Given the description of an element on the screen output the (x, y) to click on. 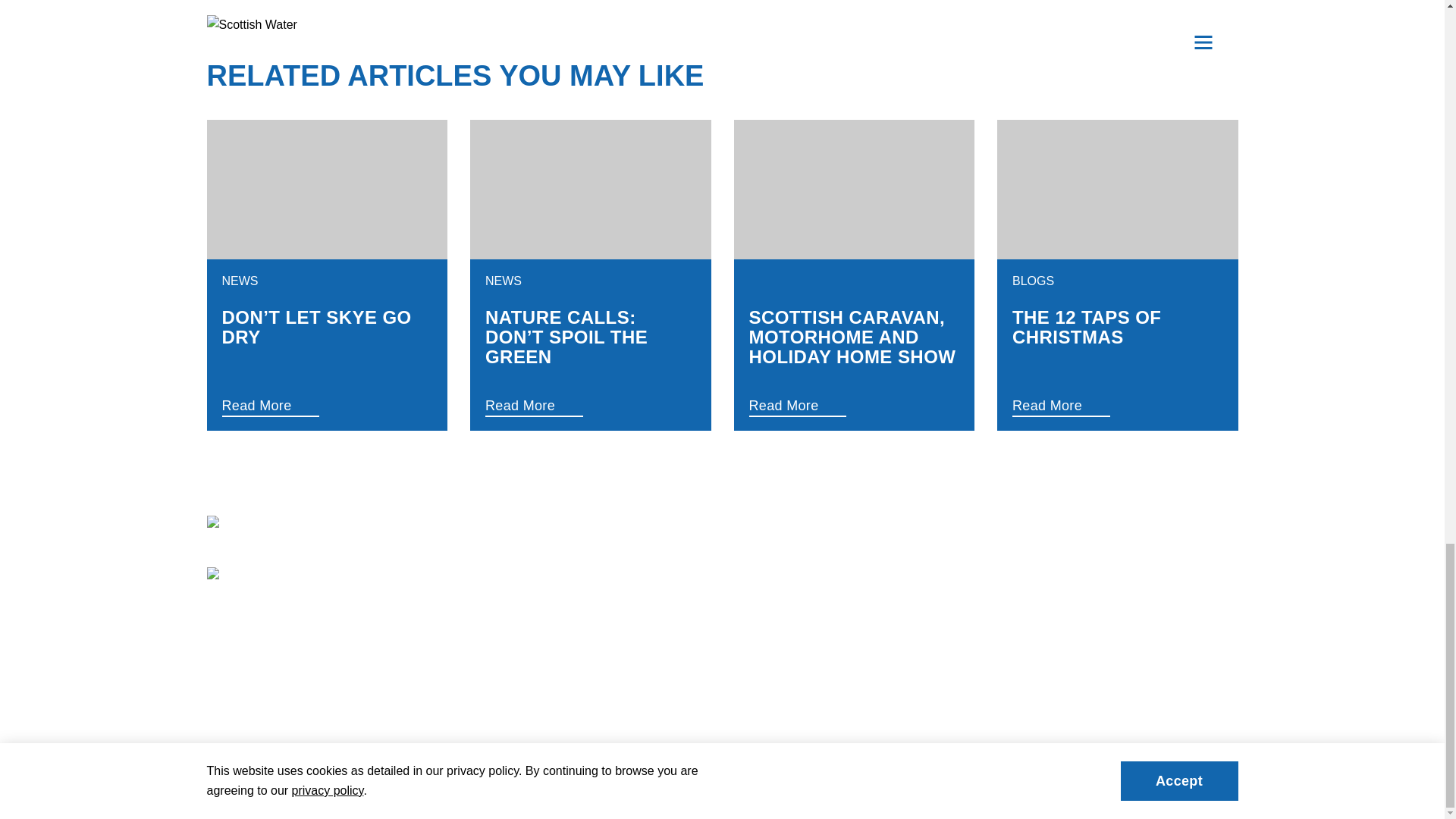
Read More (303, 405)
Read More (567, 405)
Photo by martin bennie on Unsplash (326, 189)
SCOTTISH CARAVAN, MOTORHOME AND HOLIDAY HOME SHOW (854, 336)
